Given the description of an element on the screen output the (x, y) to click on. 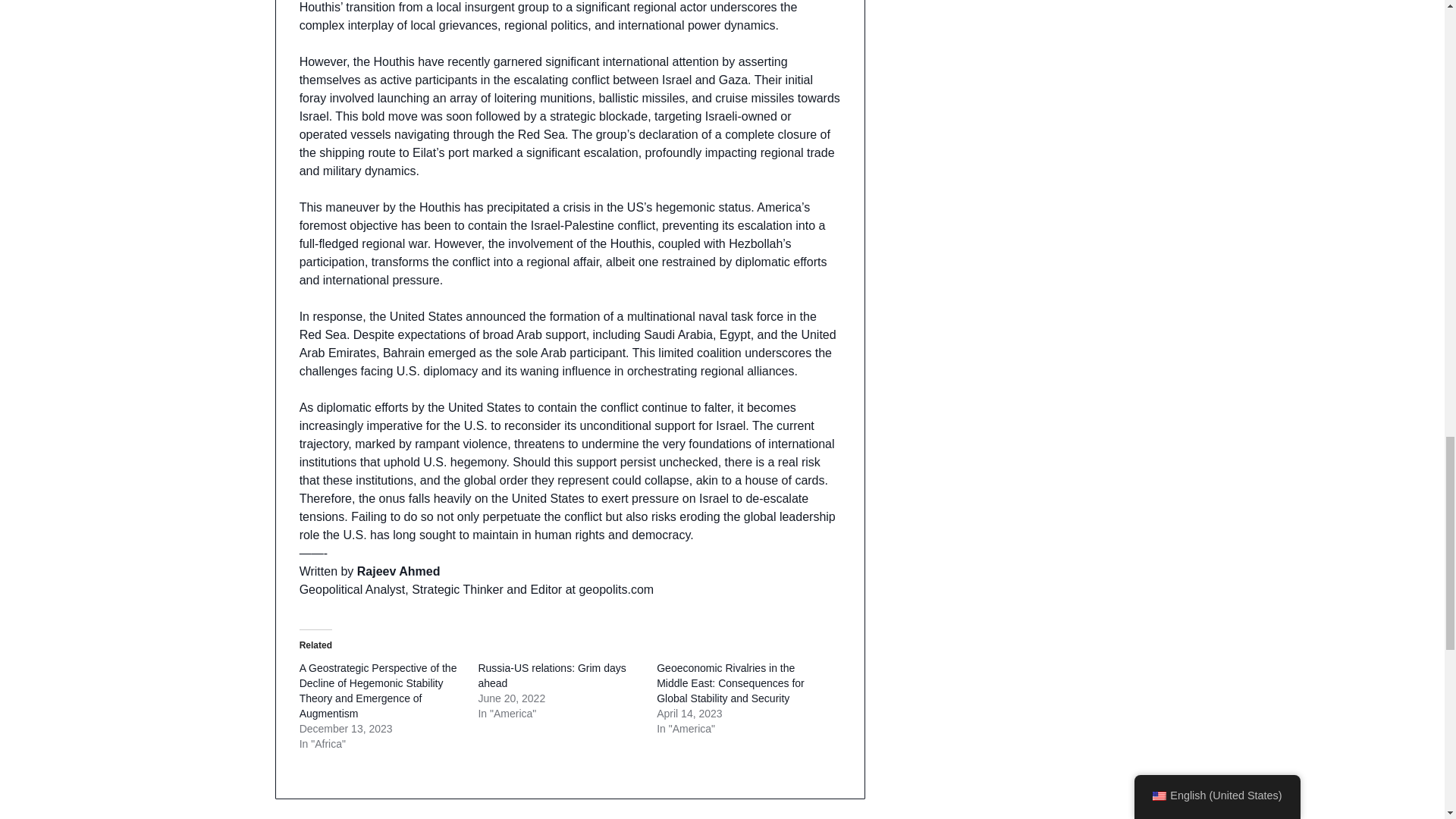
Russia-US relations: Grim days ahead (551, 675)
Russia-US relations: Grim days ahead (551, 675)
